Given the description of an element on the screen output the (x, y) to click on. 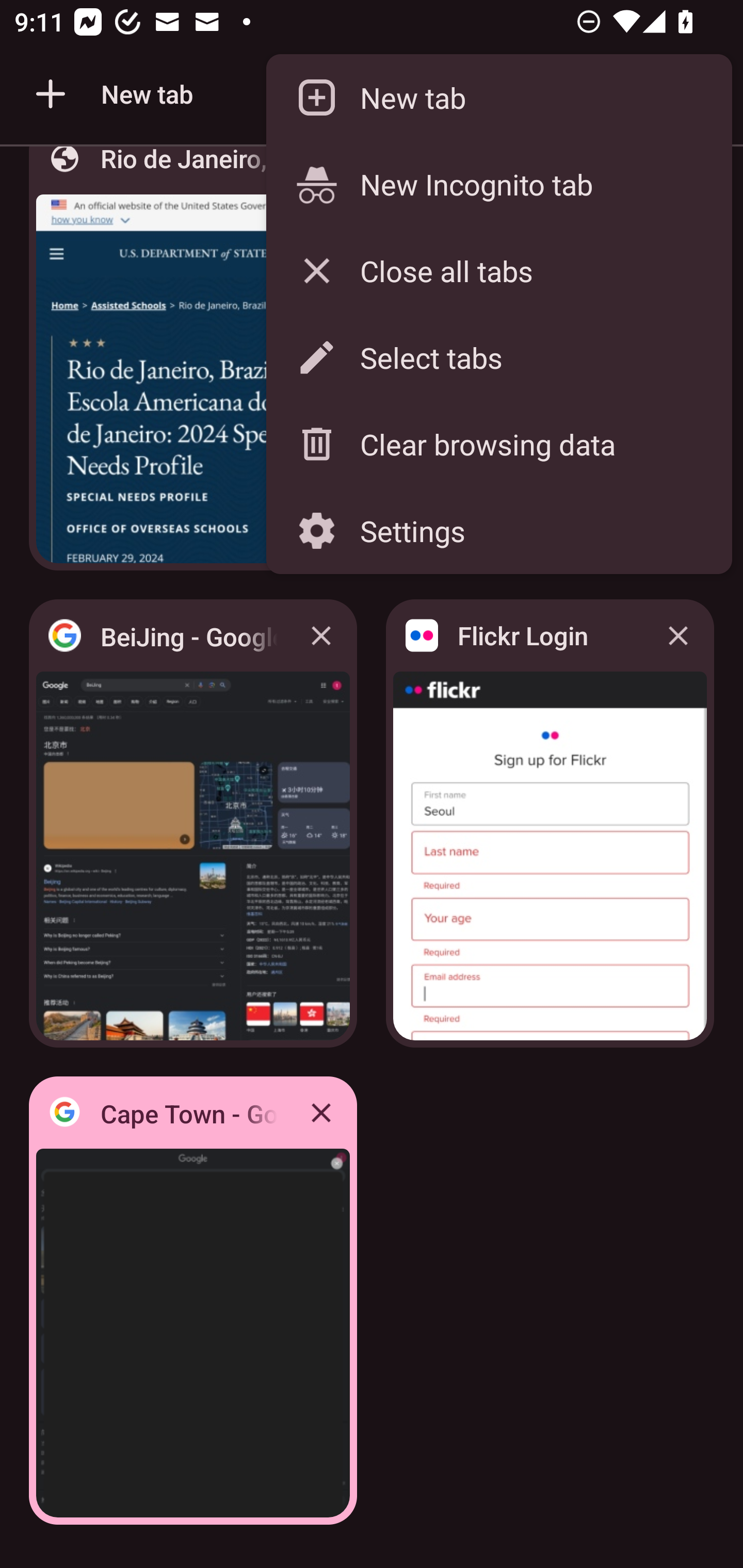
New tab (498, 97)
New Incognito tab (498, 184)
Close all tabs (498, 270)
Select tabs (498, 357)
Clear browsing data (498, 444)
Settings (498, 530)
